Given the description of an element on the screen output the (x, y) to click on. 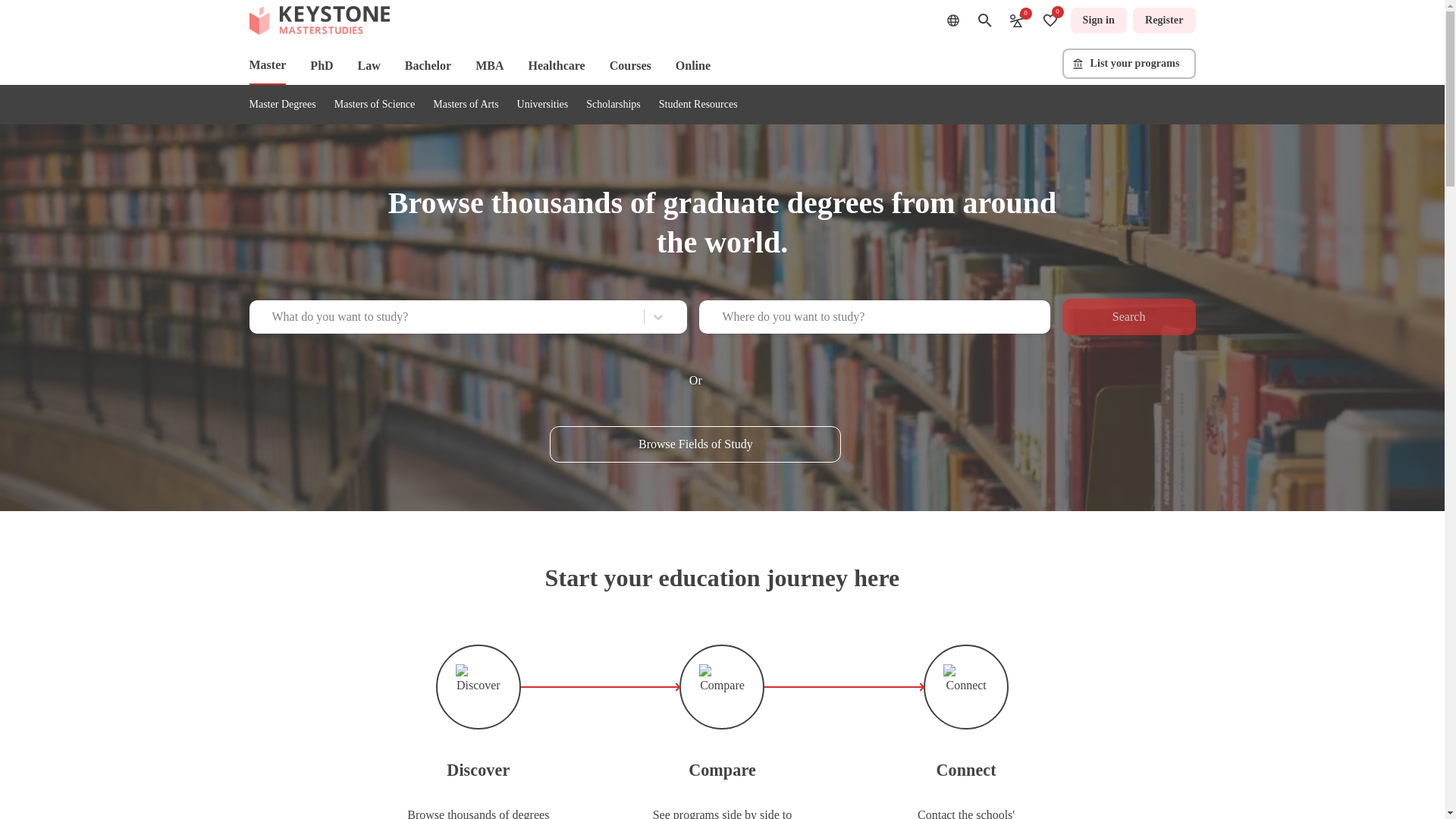
Online (692, 65)
Register (1163, 20)
Universities (542, 103)
Search (1128, 316)
Student Resources (698, 103)
Healthcare (556, 65)
Master Degrees (281, 103)
Sign in (1098, 20)
Scholarships (613, 103)
Master (266, 65)
